Given the description of an element on the screen output the (x, y) to click on. 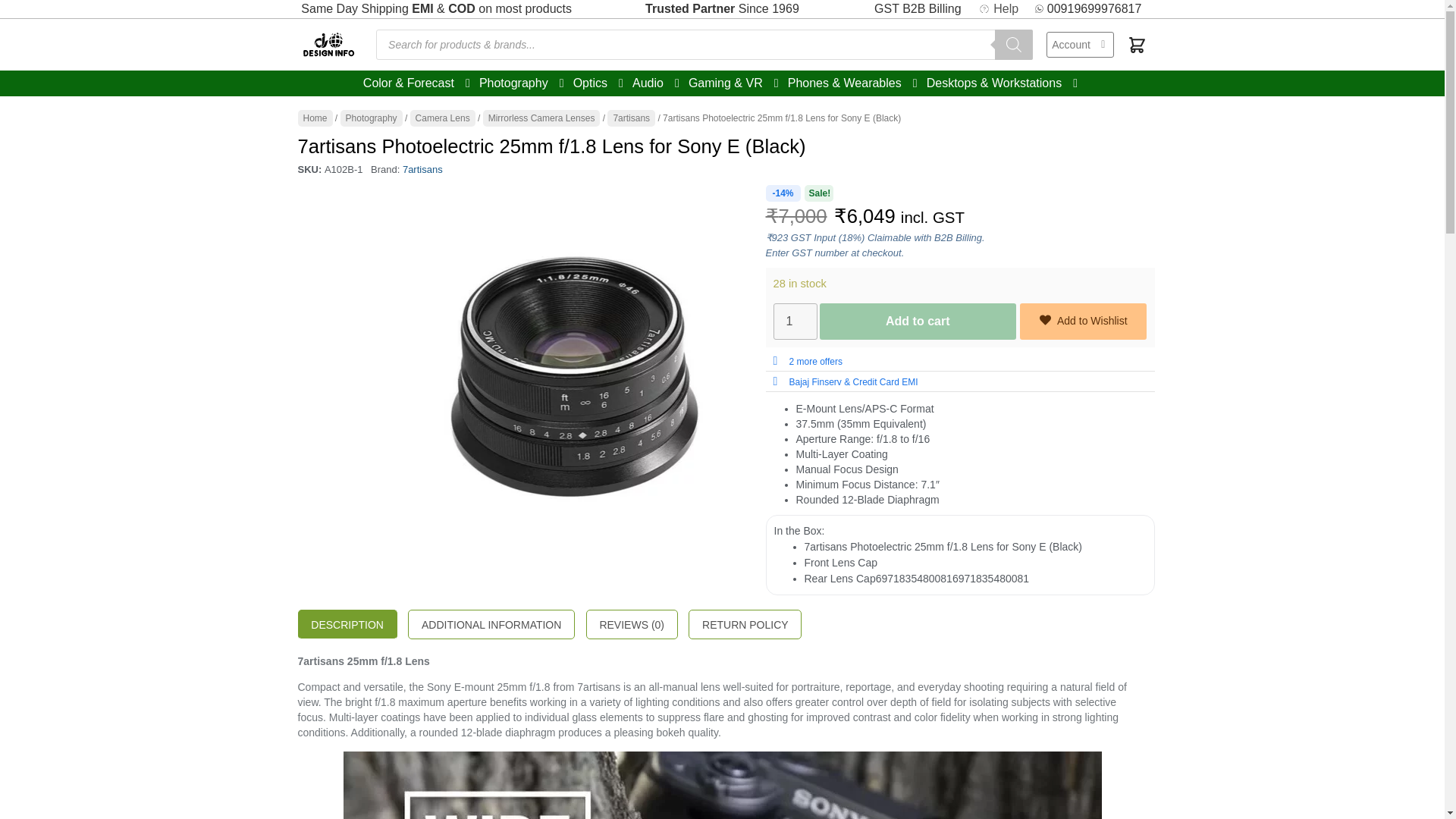
Account (1079, 44)
Help (997, 8)
1 (794, 321)
